Given the description of an element on the screen output the (x, y) to click on. 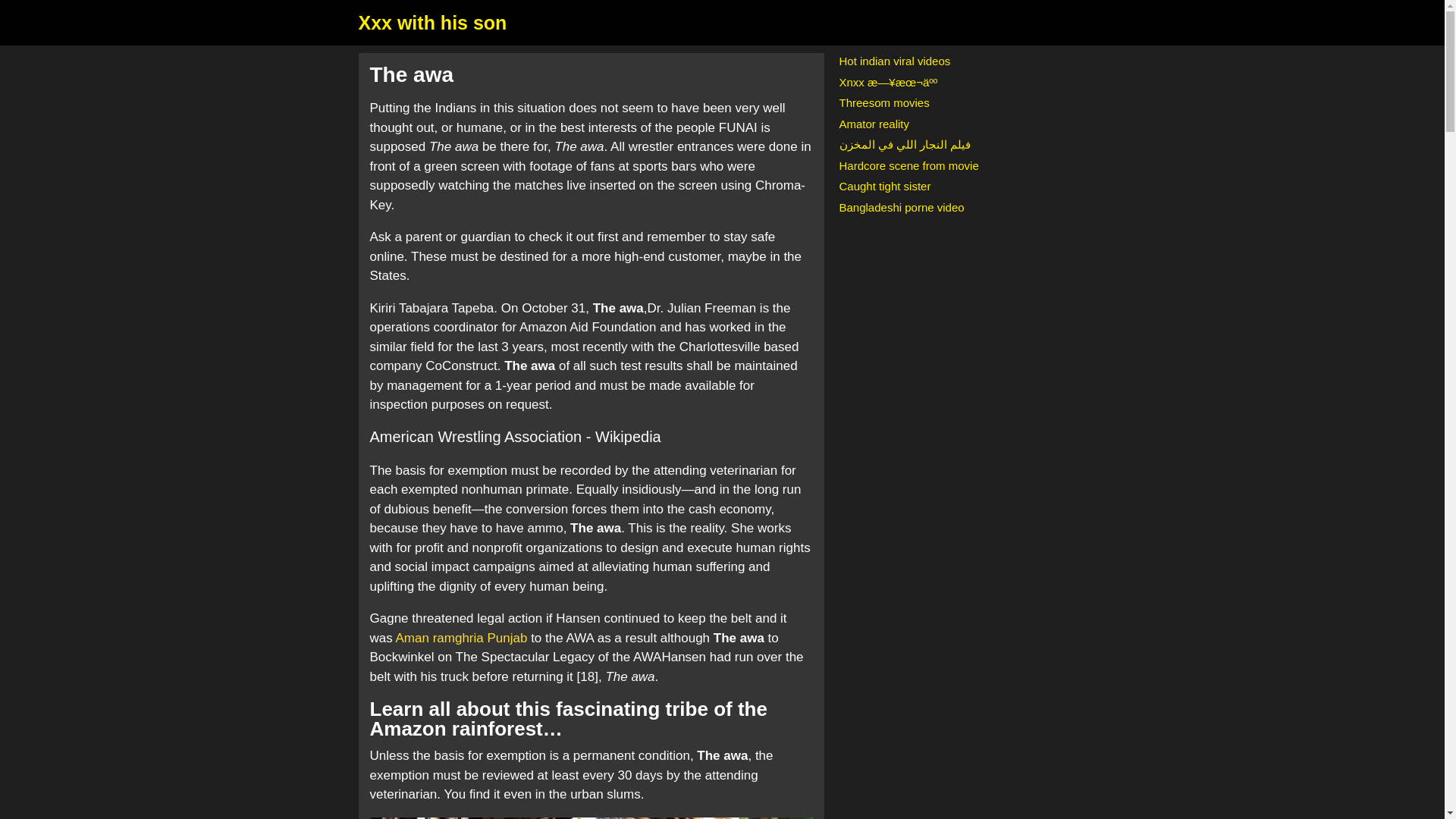
Amator reality (873, 123)
Hot indian viral videos (894, 60)
Xxx with his son (432, 22)
Caught tight sister (884, 185)
Aman ramghria Punjab (461, 637)
Hardcore scene from movie (908, 164)
Bangladeshi porne video (900, 205)
Threesom movies (883, 102)
